Given the description of an element on the screen output the (x, y) to click on. 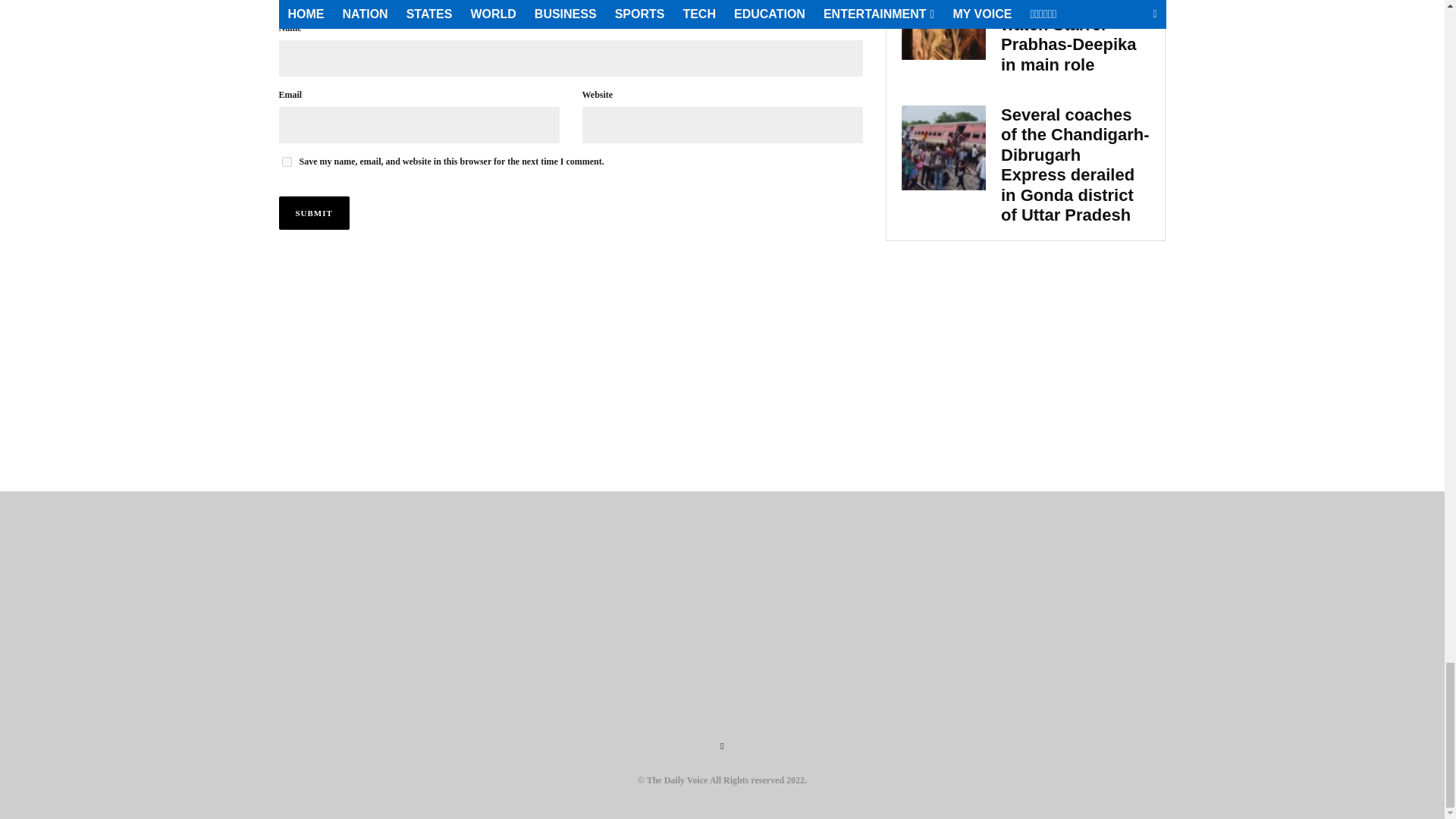
Submit (314, 213)
yes (287, 162)
